Given the description of an element on the screen output the (x, y) to click on. 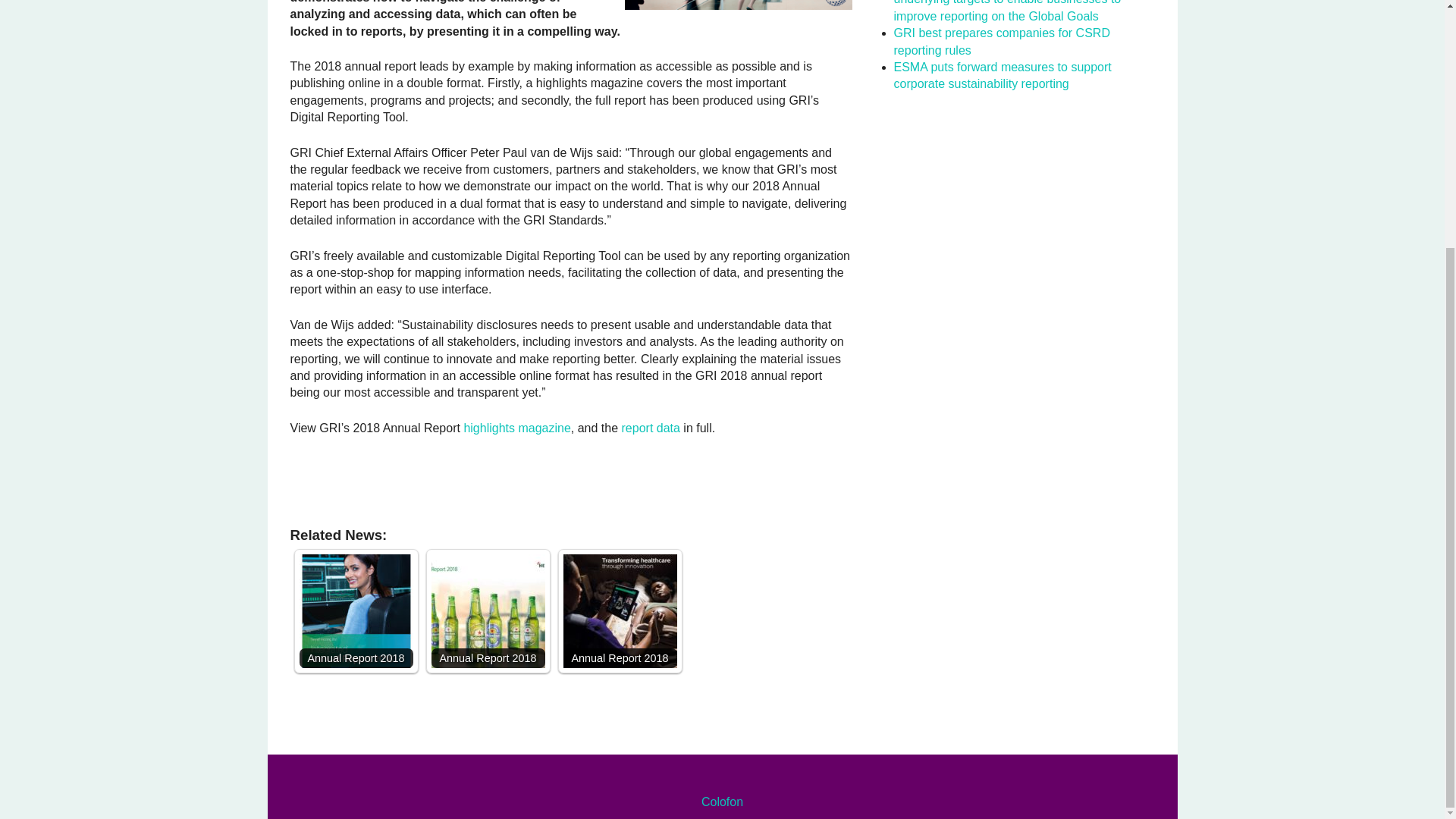
highlights magazine (516, 427)
Colofon (721, 801)
GRI best prepares companies for CSRD reporting rules (1001, 41)
Annual Report 2018 (355, 611)
Annual Report 2018 (487, 611)
Annual Report 2018 (619, 611)
Annual Report 2018 (619, 611)
Annual Report 2018 (487, 611)
report data (650, 427)
Annual Report 2018 (355, 611)
